Given the description of an element on the screen output the (x, y) to click on. 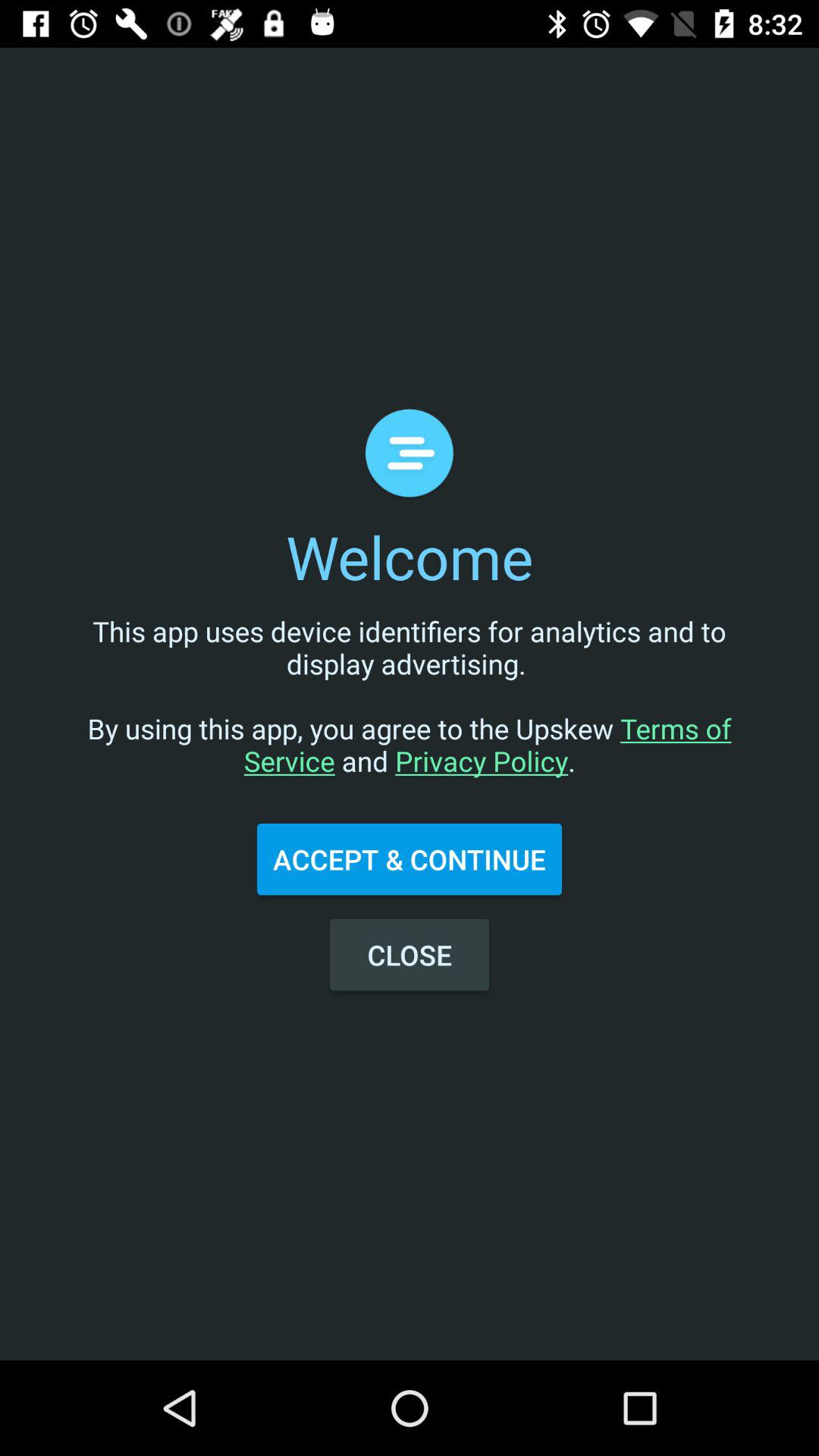
click the item below this app uses item (409, 859)
